Given the description of an element on the screen output the (x, y) to click on. 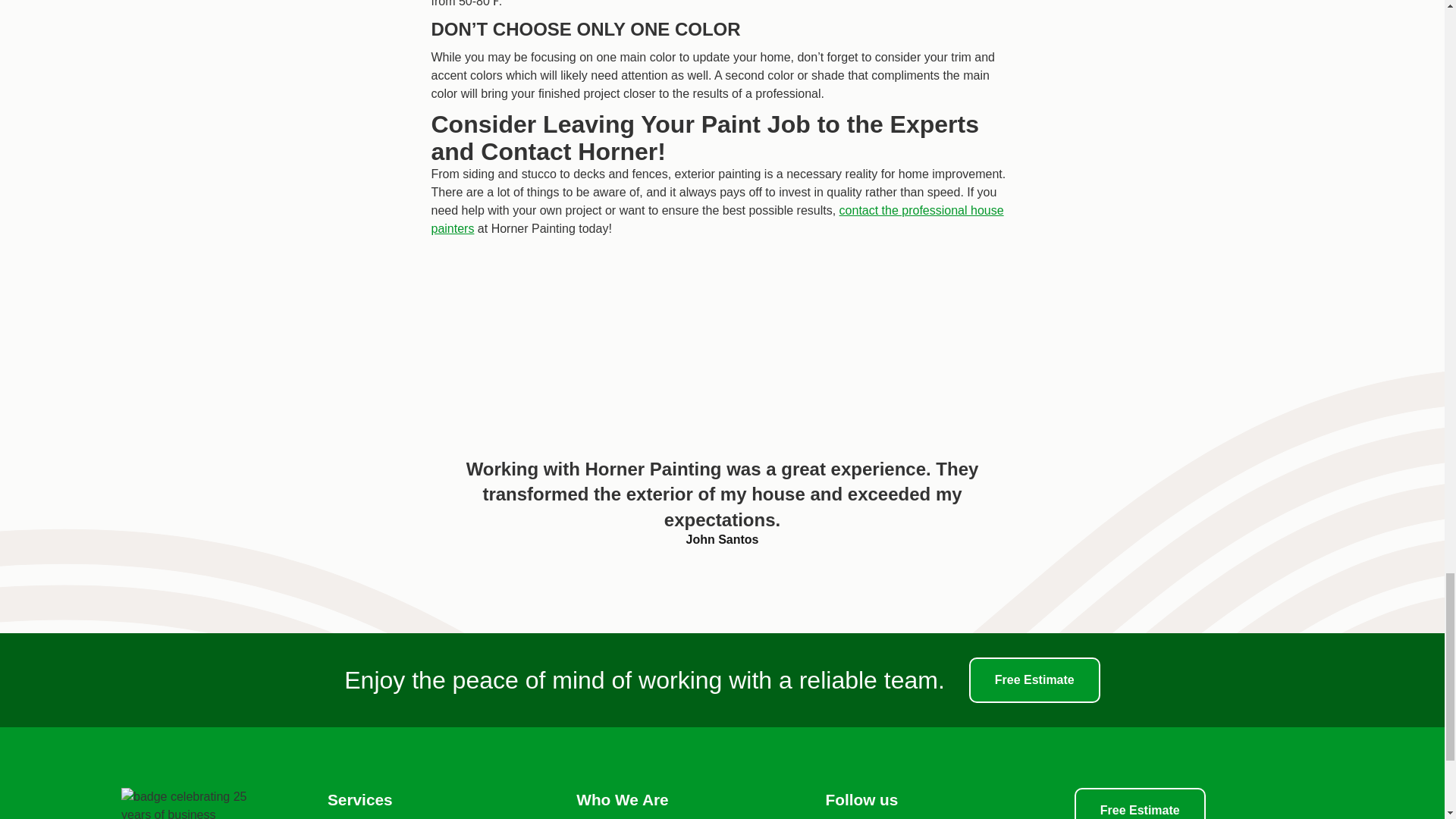
Facebook (865, 815)
contact the professional house painters (716, 219)
Free Estimate (1139, 803)
Free Estimate (1034, 679)
